Given the description of an element on the screen output the (x, y) to click on. 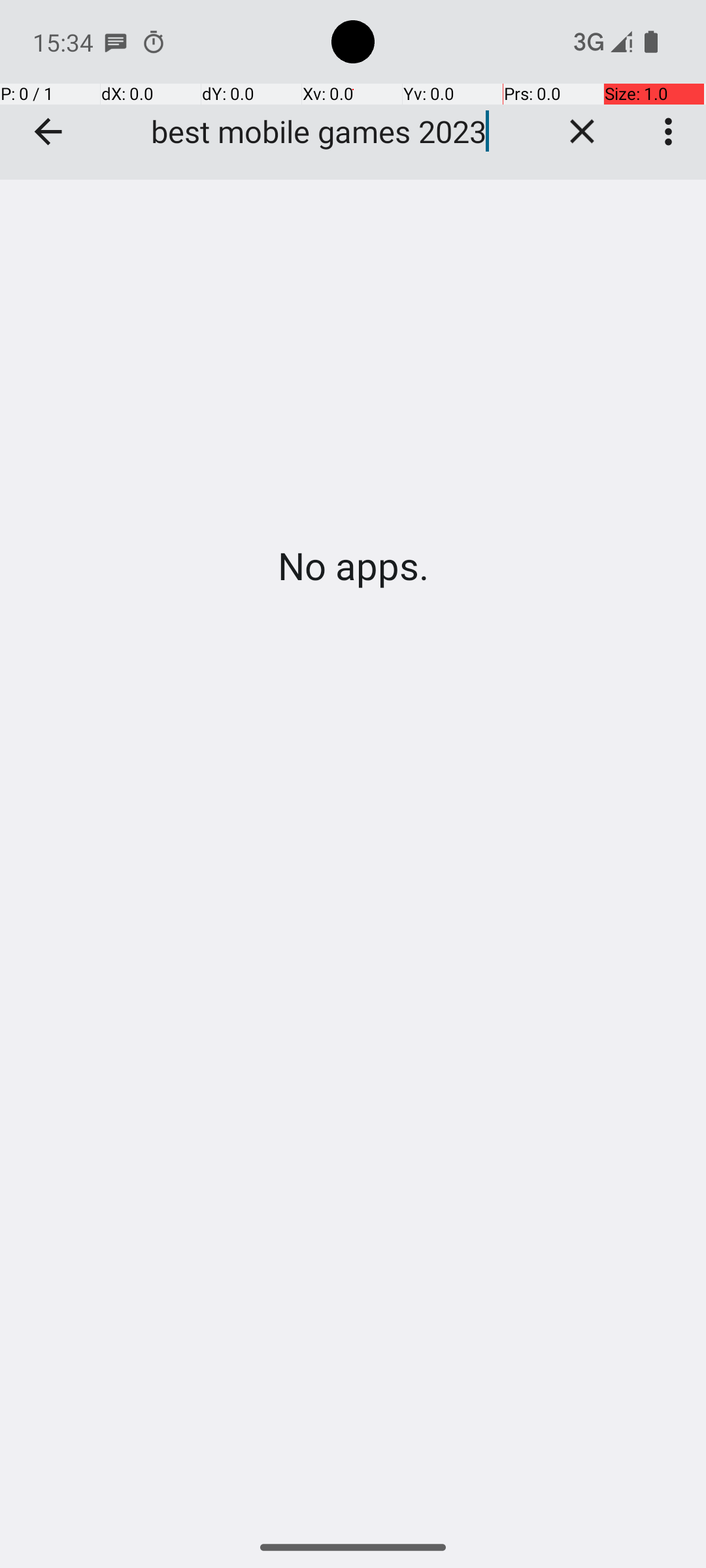
No apps. Element type: android.widget.TextView (353, 565)
best mobile games 2023 Element type: android.widget.AutoCompleteTextView (338, 130)
